Given the description of an element on the screen output the (x, y) to click on. 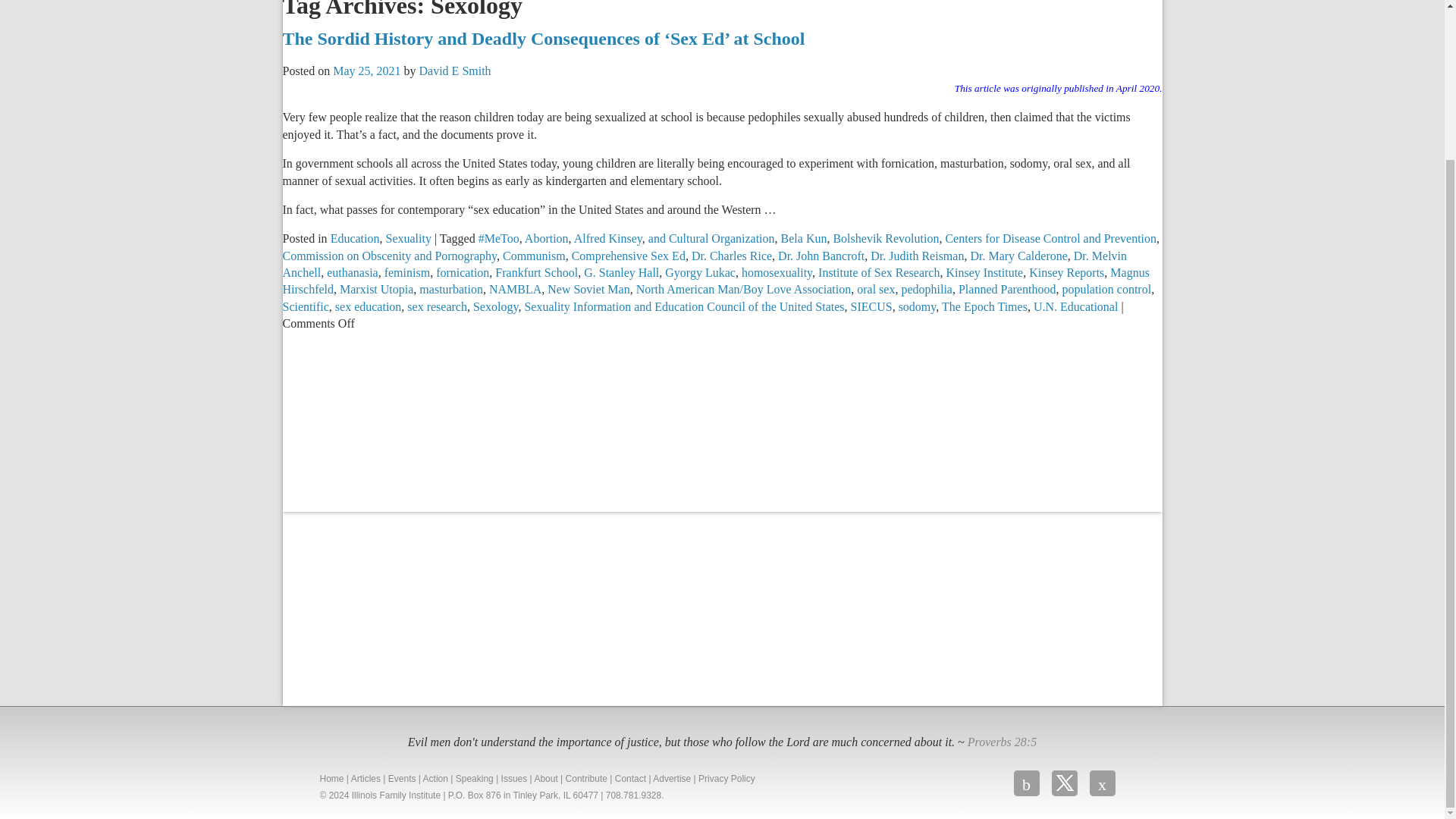
Education (355, 237)
View all posts by David E Smith (454, 70)
May 25, 2021 (366, 70)
Advertisement (395, 606)
6:57 AM (366, 70)
Sexuality (407, 237)
David E Smith (454, 70)
